Given the description of an element on the screen output the (x, y) to click on. 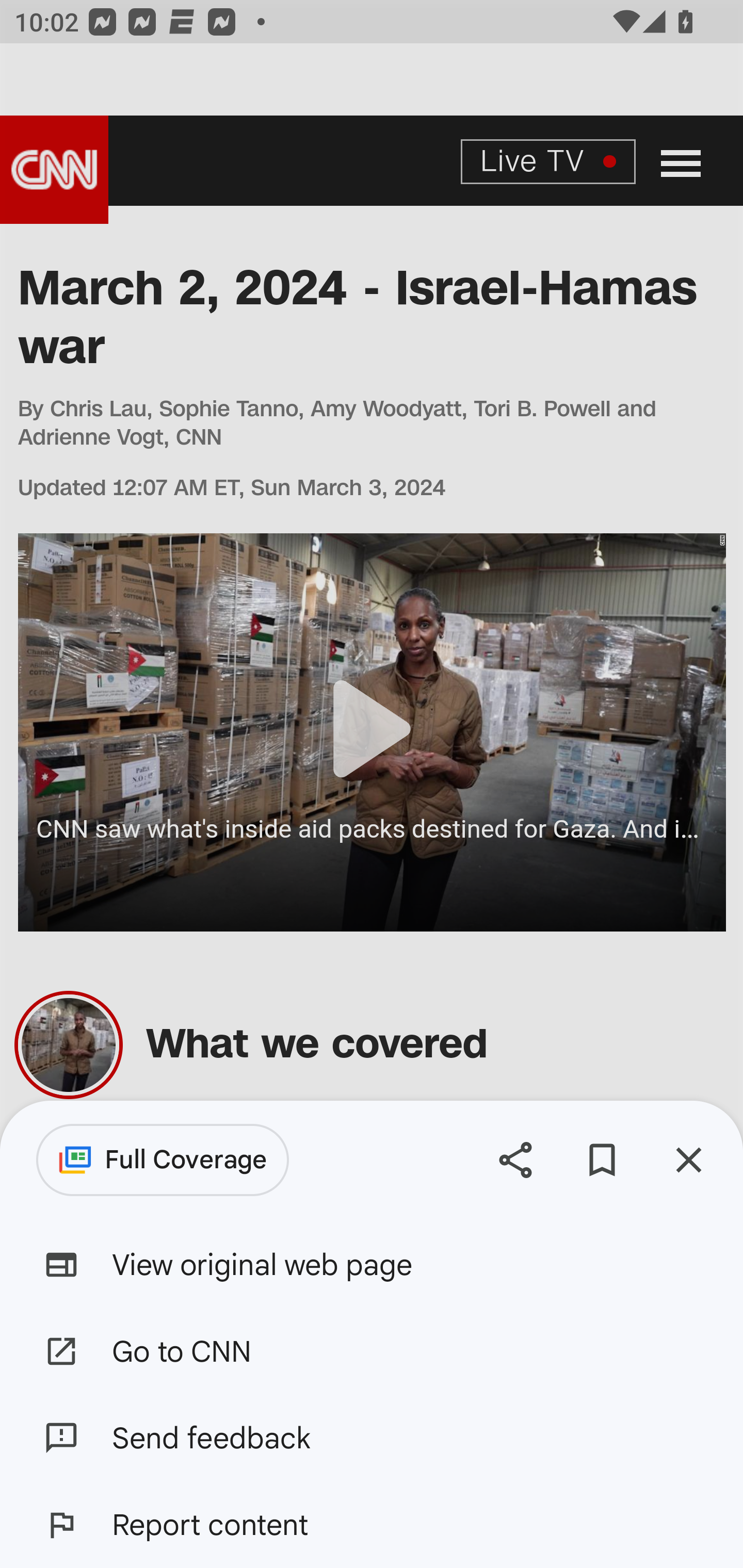
Share (514, 1159)
Save for later (601, 1159)
Close (688, 1159)
Full Coverage (162, 1160)
View original web page (371, 1264)
Go to CNN (371, 1350)
Send feedback (371, 1437)
Report content (371, 1524)
